Given the description of an element on the screen output the (x, y) to click on. 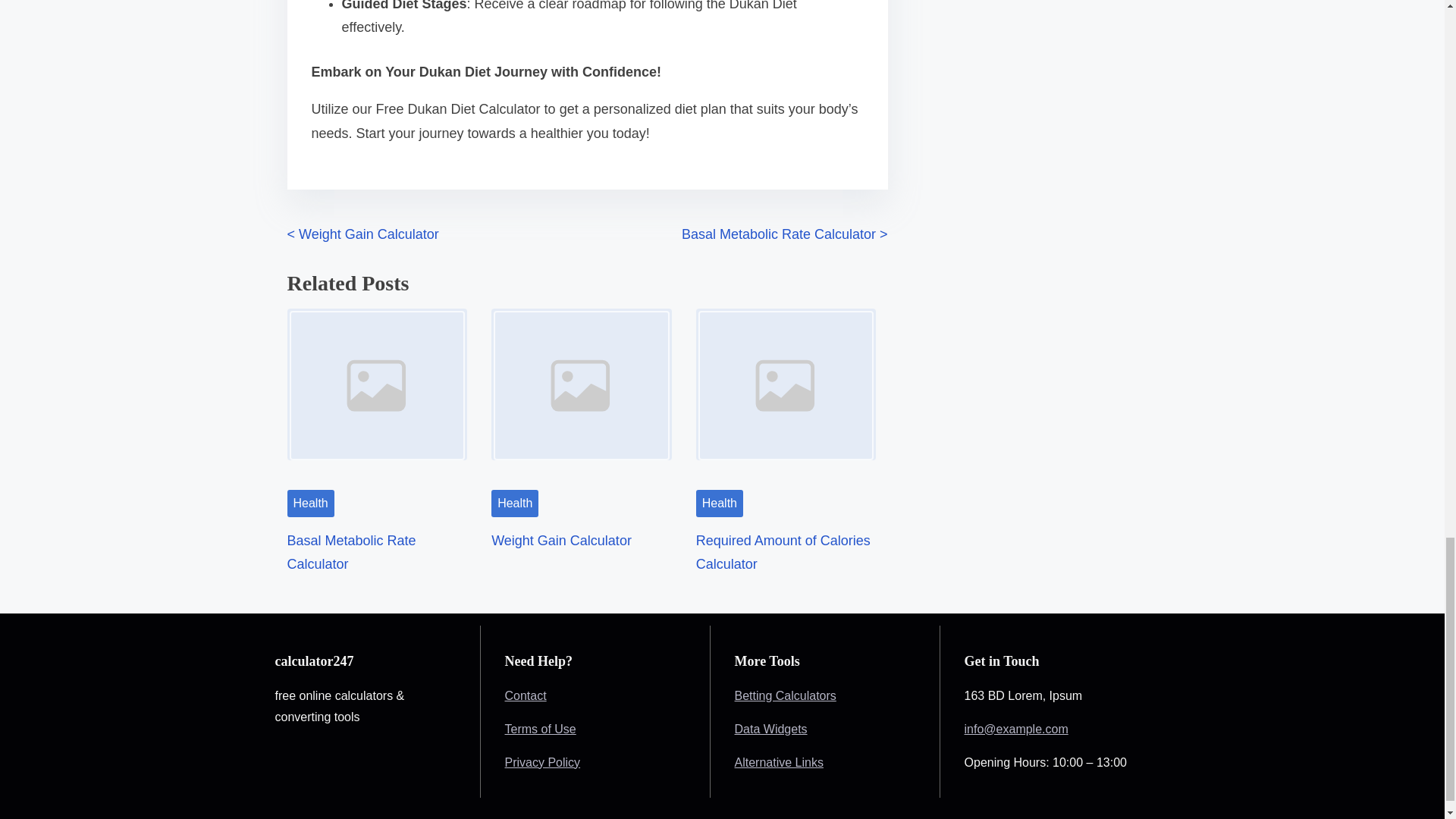
Health (515, 502)
Alternative Links (779, 761)
Health (309, 502)
Image Placeholder (785, 394)
Required Amount of Calories Calculator (782, 551)
Basal Metabolic Rate Calculator (350, 551)
Weight Gain Calculator (561, 539)
Terms of Use (540, 727)
Image Placeholder (581, 394)
Privacy Policy (542, 761)
Health (718, 502)
Contact (526, 694)
Data Widgets (771, 727)
Betting Calculators (785, 694)
Image Placeholder (376, 394)
